Given the description of an element on the screen output the (x, y) to click on. 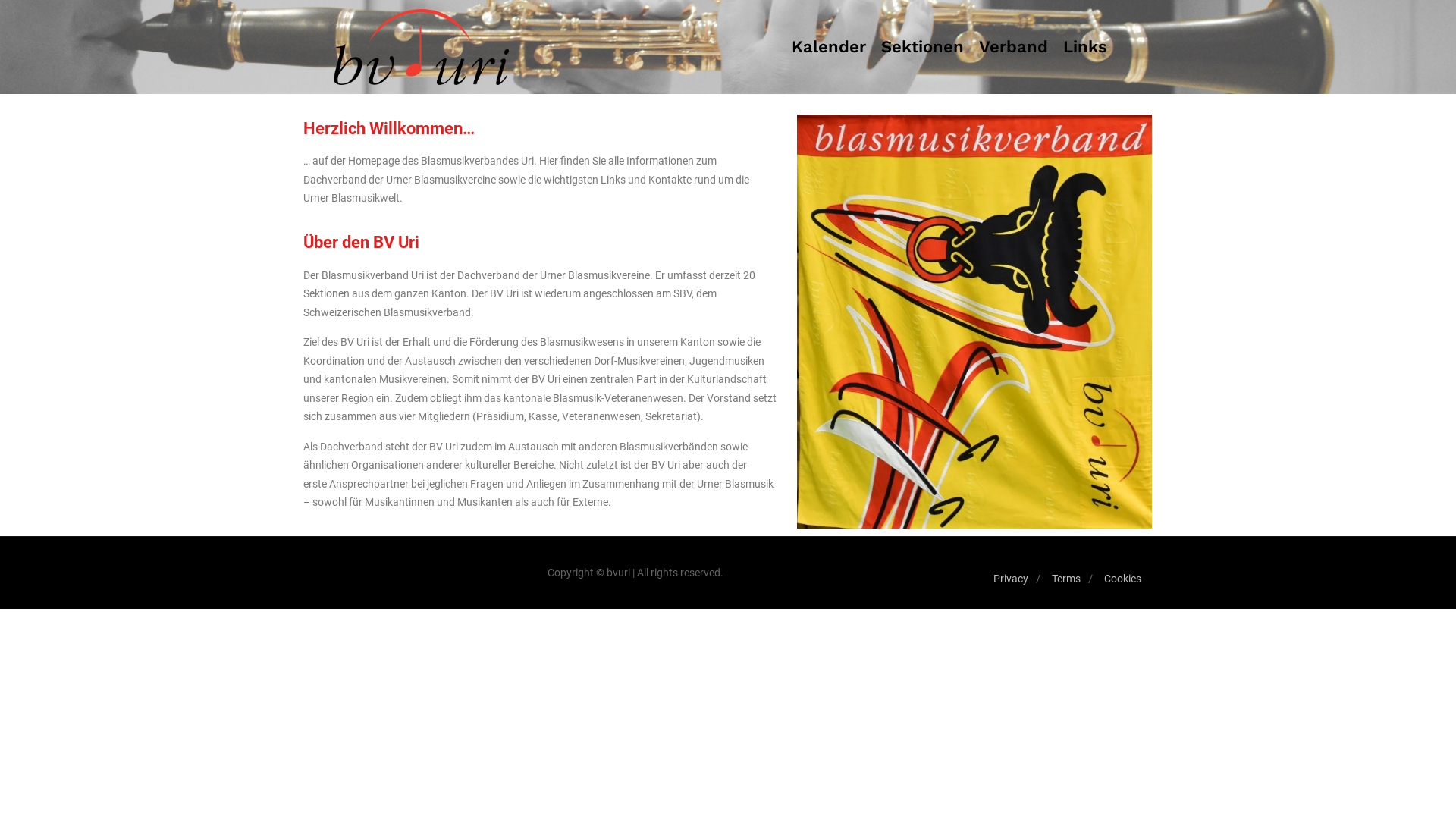
Privacy Element type: text (1010, 578)
Kalender Element type: text (828, 46)
Sektionen Element type: text (922, 46)
Terms Element type: text (1065, 578)
Cookies Element type: text (1122, 578)
Links Element type: text (1084, 46)
BVURI Element type: hover (420, 46)
Verband Element type: text (1013, 46)
